Given the description of an element on the screen output the (x, y) to click on. 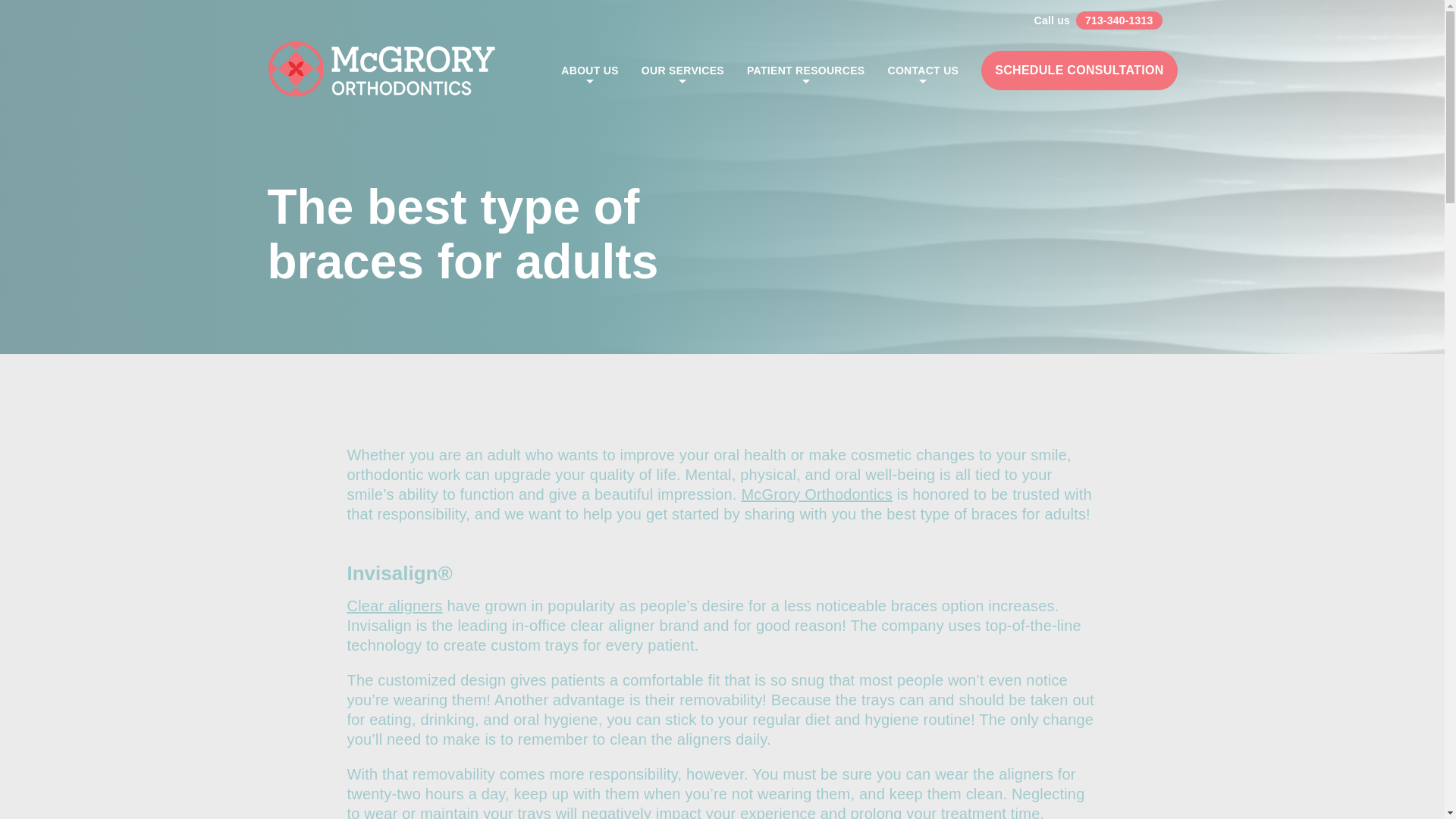
OUR SERVICES (682, 69)
McGrory Orthodontics (380, 69)
Return to Homepage (380, 69)
ABOUT US (589, 69)
McGrory Orthodontics (816, 494)
SCHEDULE CONSULTATION (1078, 69)
Clear aligners (394, 605)
PATIENT RESOURCES (805, 69)
713-340-1313 (1118, 20)
CONTACT US (922, 69)
